Given the description of an element on the screen output the (x, y) to click on. 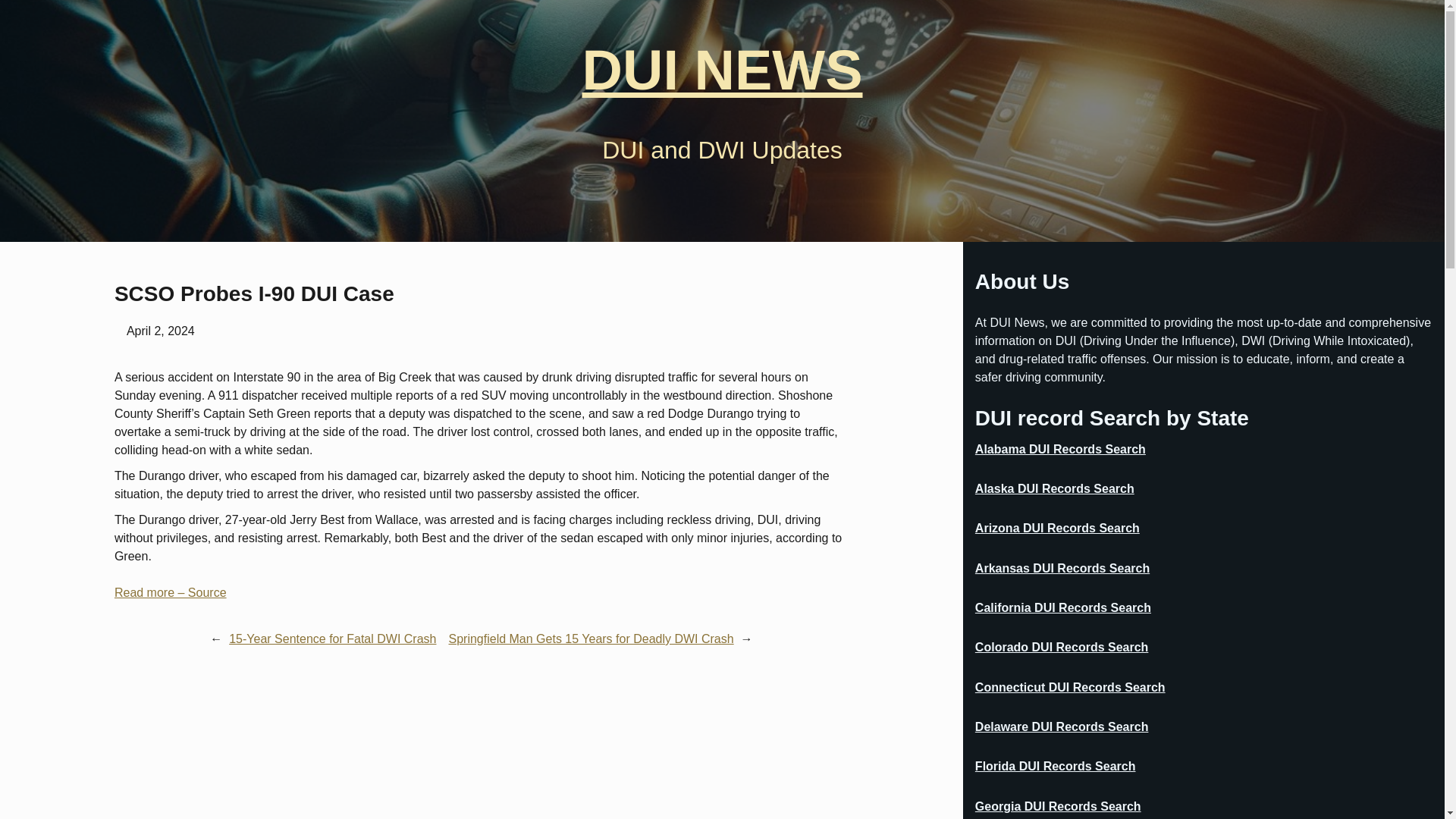
Georgia DUI Records Search (1058, 807)
Alabama DUI Records Search (1060, 449)
Arkansas DUI Records Search (1062, 568)
15-Year Sentence for Fatal DWI Crash (331, 638)
Arizona DUI Records Search (1057, 528)
Florida DUI Records Search (1055, 766)
Alaska DUI Records Search (1054, 489)
Springfield Man Gets 15 Years for Deadly DWI Crash (590, 638)
California DUI Records Search (1063, 608)
Connecticut DUI Records Search (1070, 687)
